Given the description of an element on the screen output the (x, y) to click on. 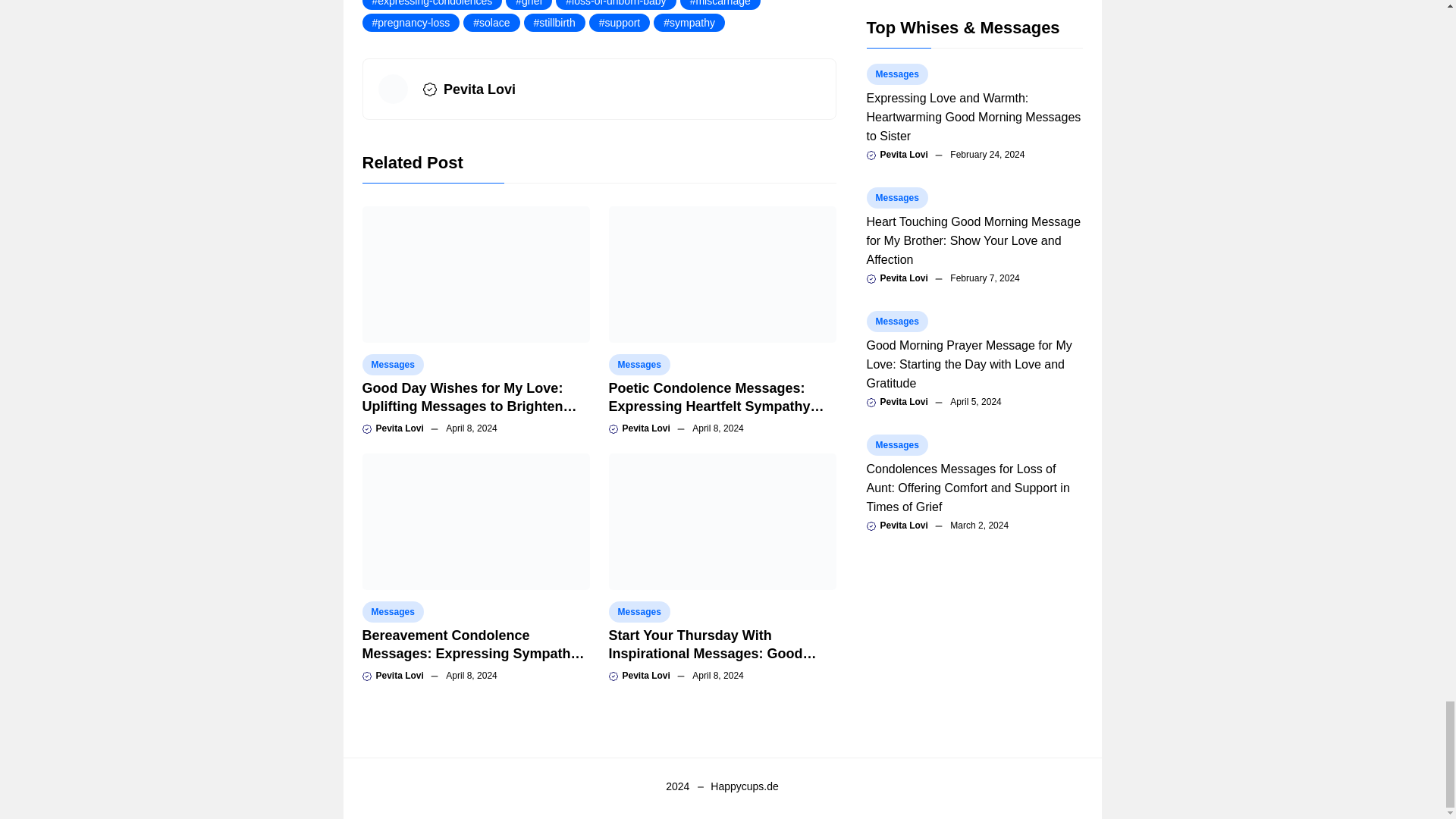
loss-of-unborn-baby (615, 4)
solace (491, 22)
miscarriage (719, 4)
stillbirth (553, 22)
expressing-condolences (432, 4)
Messages (638, 364)
Messages (392, 364)
Messages (392, 611)
sympathy (689, 22)
Pevita Lovi (479, 89)
